Given the description of an element on the screen output the (x, y) to click on. 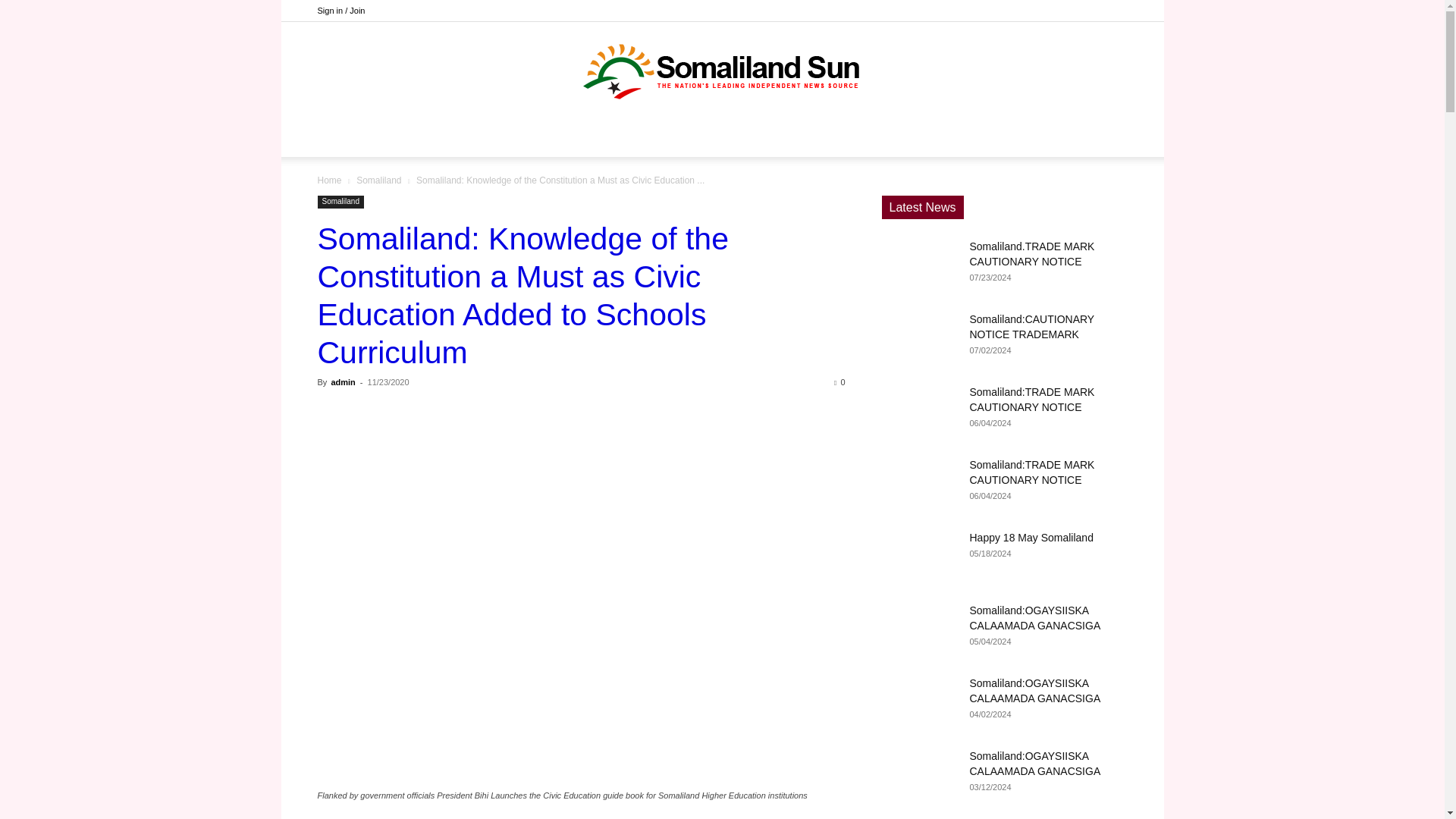
Somaliland Sun (722, 71)
NEWS (631, 138)
HOME (481, 138)
DONOR NEWS (556, 138)
